Given the description of an element on the screen output the (x, y) to click on. 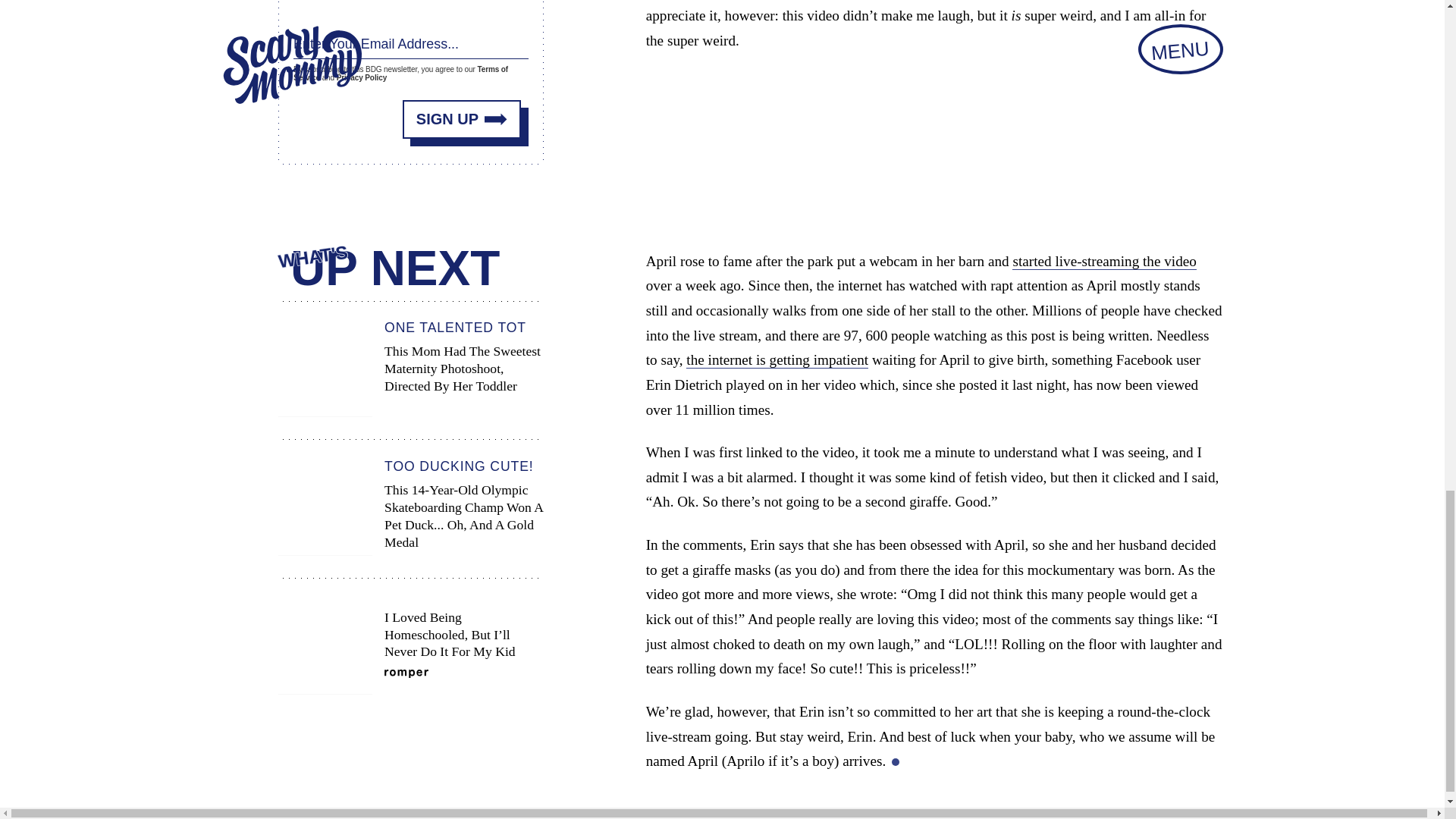
started live-streaming the video (1103, 261)
Privacy Policy (361, 77)
SIGN UP (462, 118)
the internet is getting impatient (776, 360)
Terms of Service (401, 73)
